Given the description of an element on the screen output the (x, y) to click on. 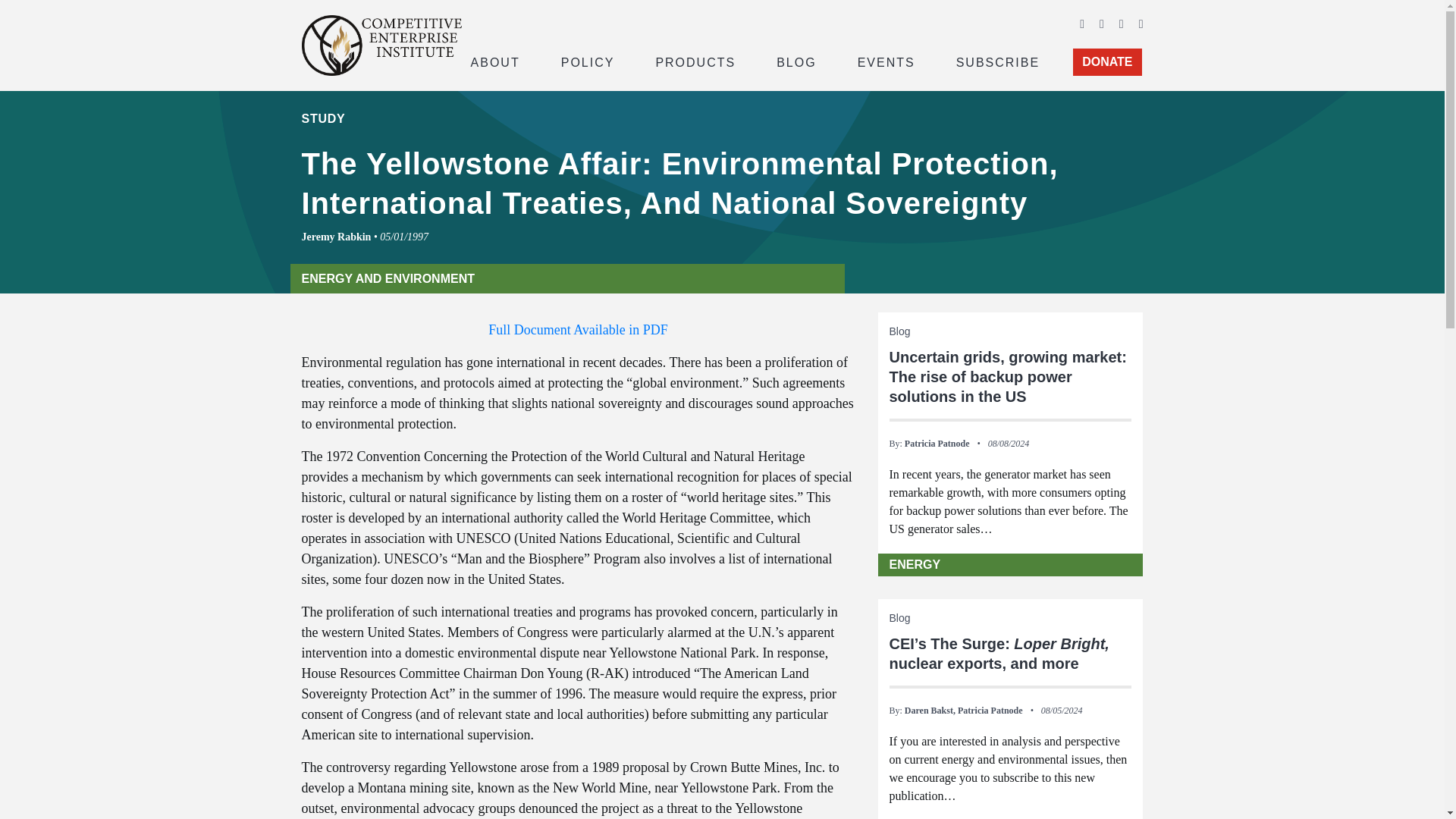
SUBSCRIBE (997, 61)
EVENTS (886, 61)
PRODUCTS (694, 61)
BLOG (796, 61)
POLICY (588, 61)
DONATE (1107, 62)
ABOUT (495, 61)
